Given the description of an element on the screen output the (x, y) to click on. 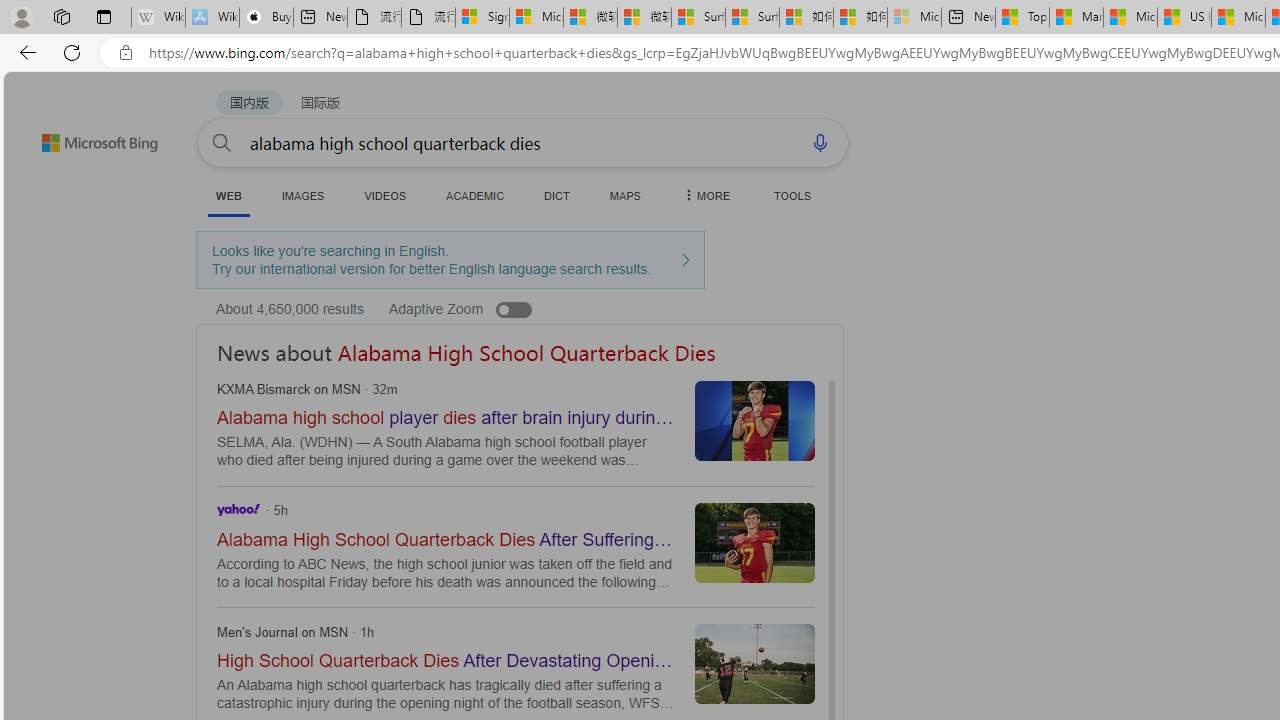
Marine life - MSN (1076, 17)
